Given the description of an element on the screen output the (x, y) to click on. 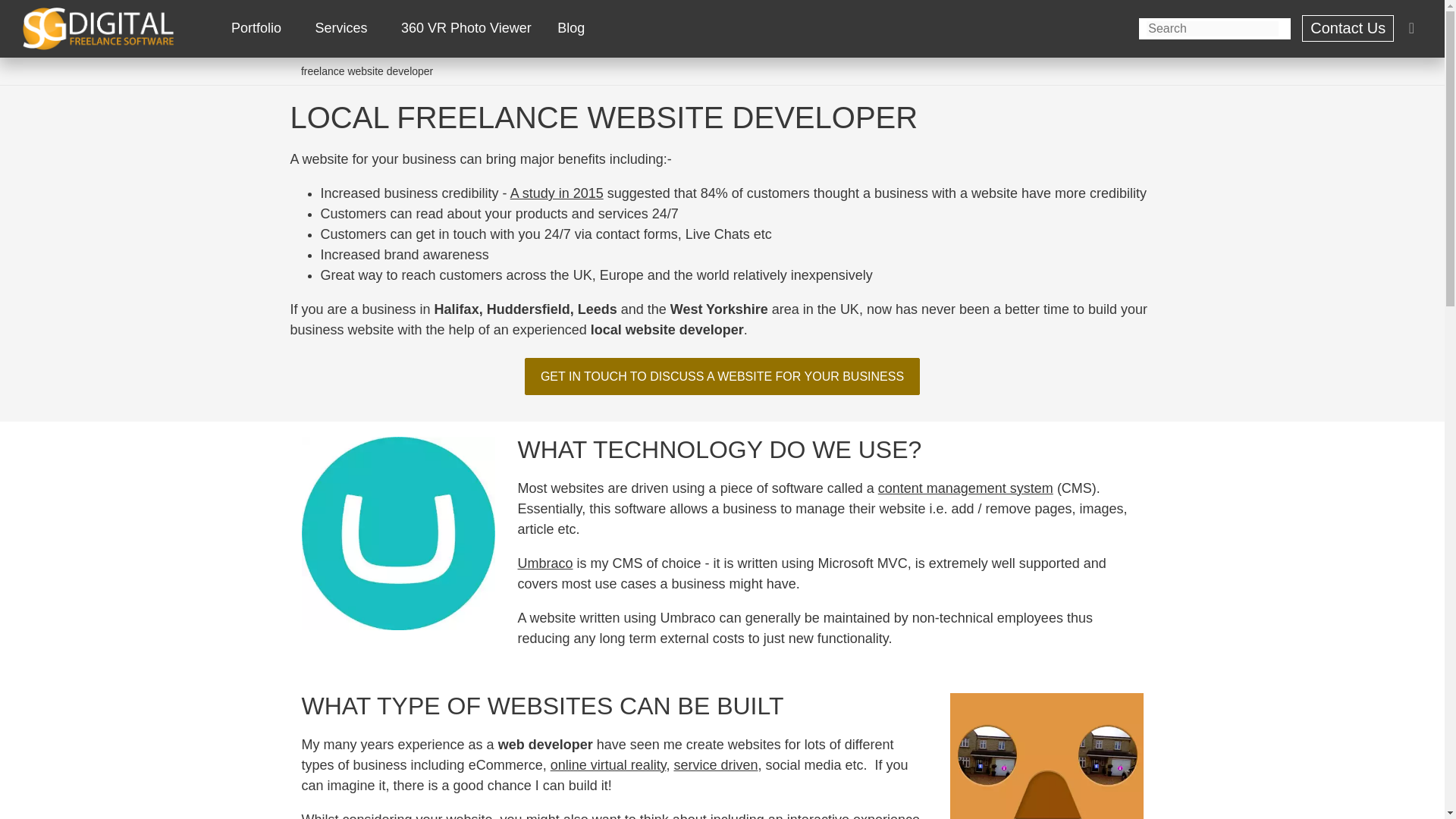
Contact Us (1347, 28)
Get in Touch (1347, 28)
service driven (714, 765)
Portfolio (259, 27)
GET IN TOUCH TO DISCUSS A WEBSITE FOR YOUR BUSINESS (722, 375)
content management system (964, 488)
Umbraco (544, 563)
online virtual reality (608, 765)
SG Digital Home (98, 28)
Blog (570, 27)
A study in 2015 (557, 192)
360 VR Photo Viewer (466, 27)
Get in Touch to Discuss a Website For Your Business (722, 375)
